Given the description of an element on the screen output the (x, y) to click on. 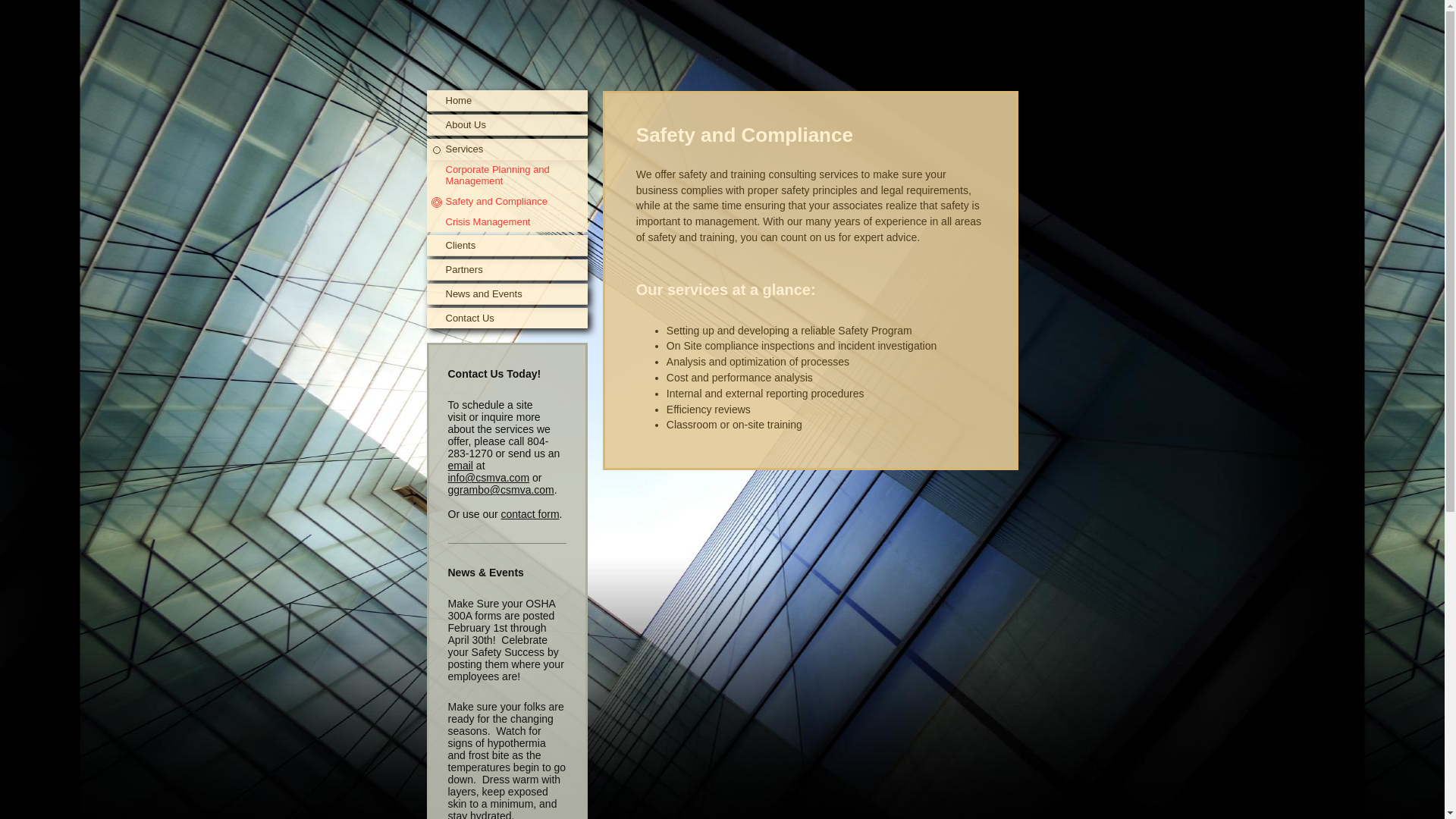
Home (506, 100)
News and Events (506, 293)
Services (506, 148)
Safety and Compliance (506, 201)
email (458, 465)
Clients (506, 245)
About Us (506, 124)
Partners (506, 269)
Corporate Planning and Management (506, 174)
Contact Us (506, 317)
